Given the description of an element on the screen output the (x, y) to click on. 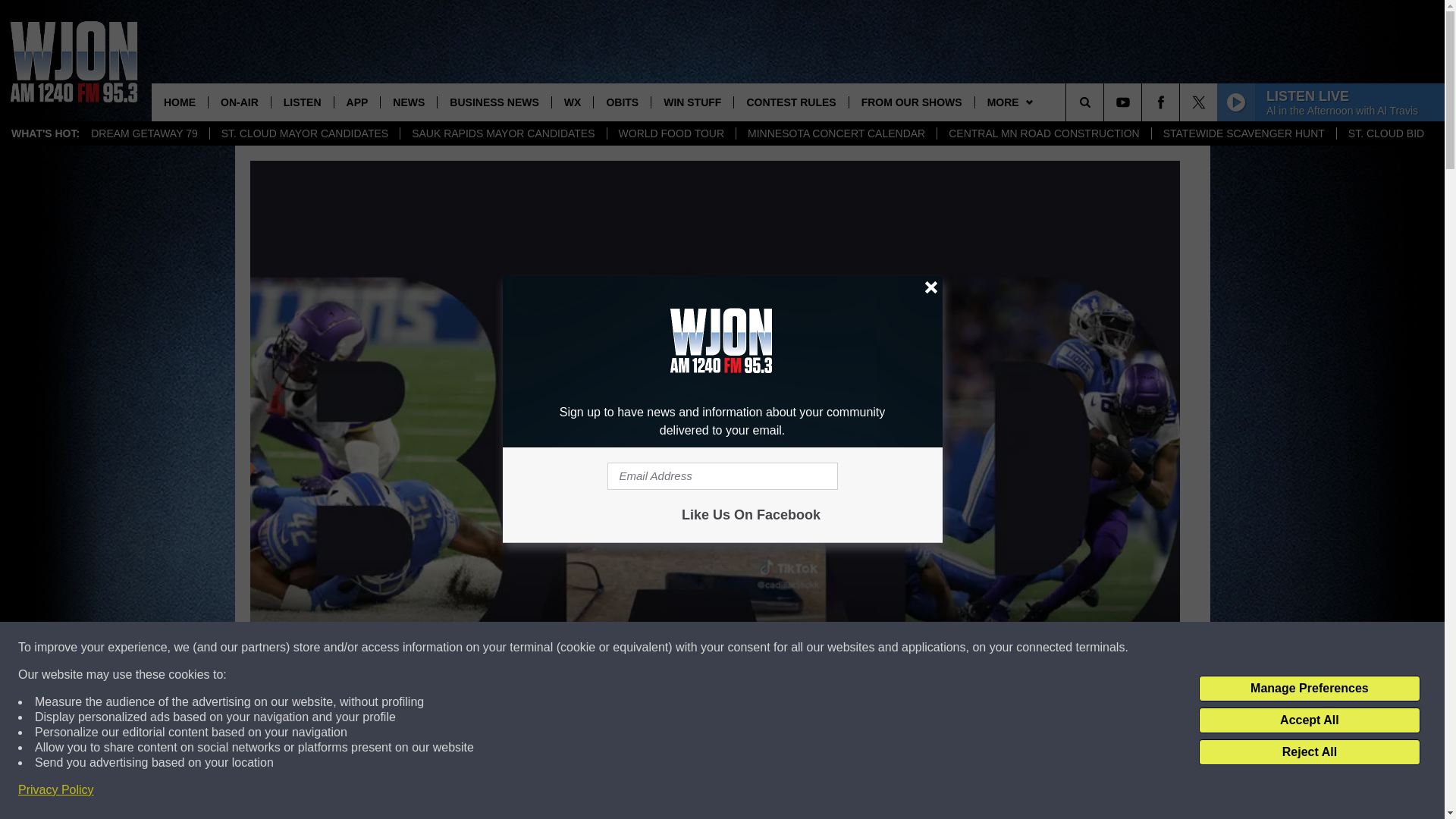
WORLD FOOD TOUR (671, 133)
DREAM GETAWAY 79 (144, 133)
SEARCH (1106, 102)
CENTRAL MN ROAD CONSTRUCTION (1043, 133)
SAUK RAPIDS MAYOR CANDIDATES (501, 133)
ST. CLOUD BID (1385, 133)
Share on Facebook (517, 791)
Share on Twitter (912, 791)
MINNESOTA CONCERT CALENDAR (835, 133)
Email Address (722, 475)
Reject All (1309, 751)
ON-AIR (239, 102)
HOME (179, 102)
LISTEN (301, 102)
Manage Preferences (1309, 688)
